Given the description of an element on the screen output the (x, y) to click on. 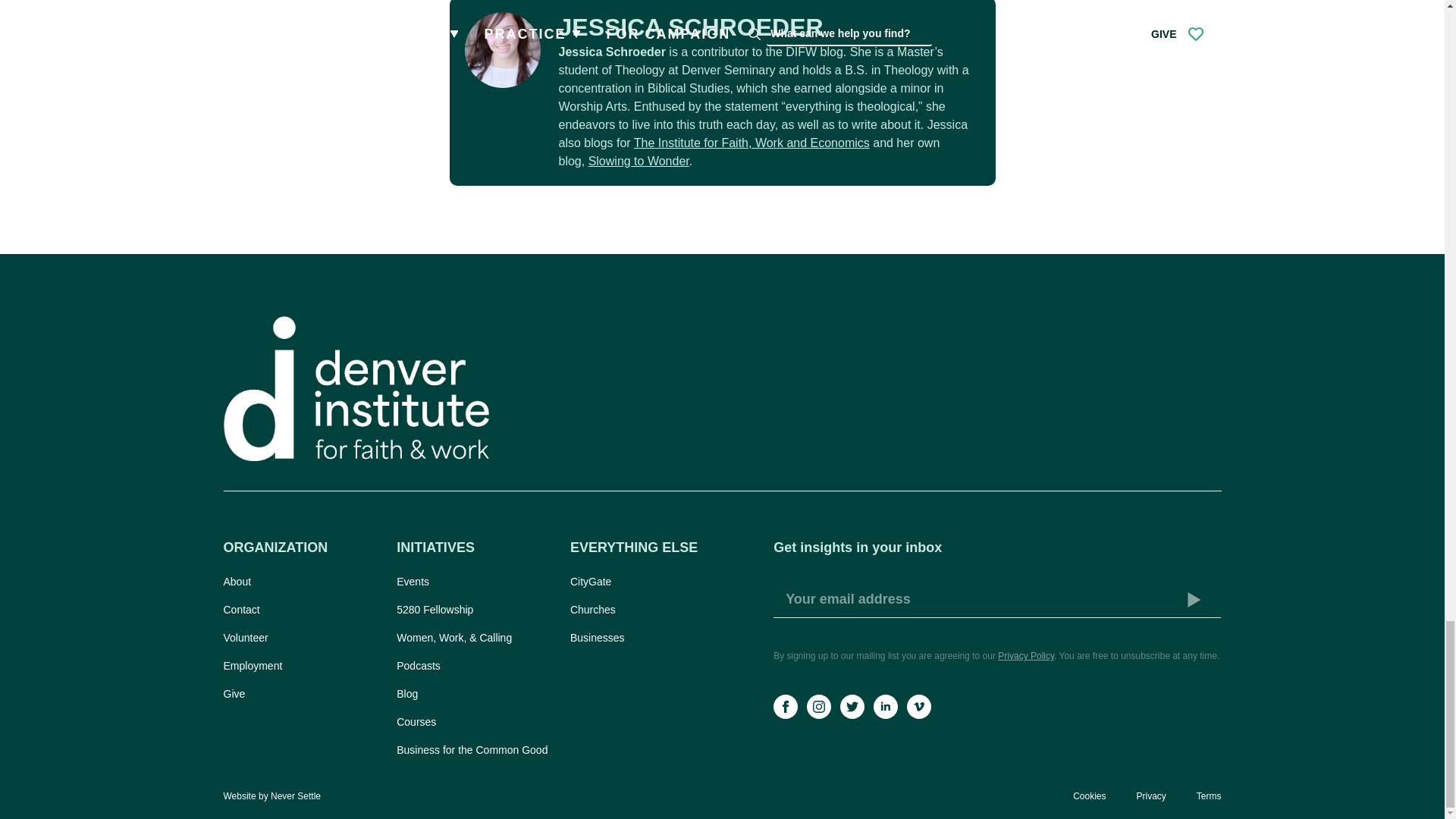
Podcasts (475, 665)
Business for the Common Good (475, 750)
Contact (301, 609)
Slowing to Wonder (638, 160)
Volunteer (301, 637)
Events (475, 581)
Blog (475, 693)
About (301, 581)
Give (301, 693)
Employment (301, 665)
